Given the description of an element on the screen output the (x, y) to click on. 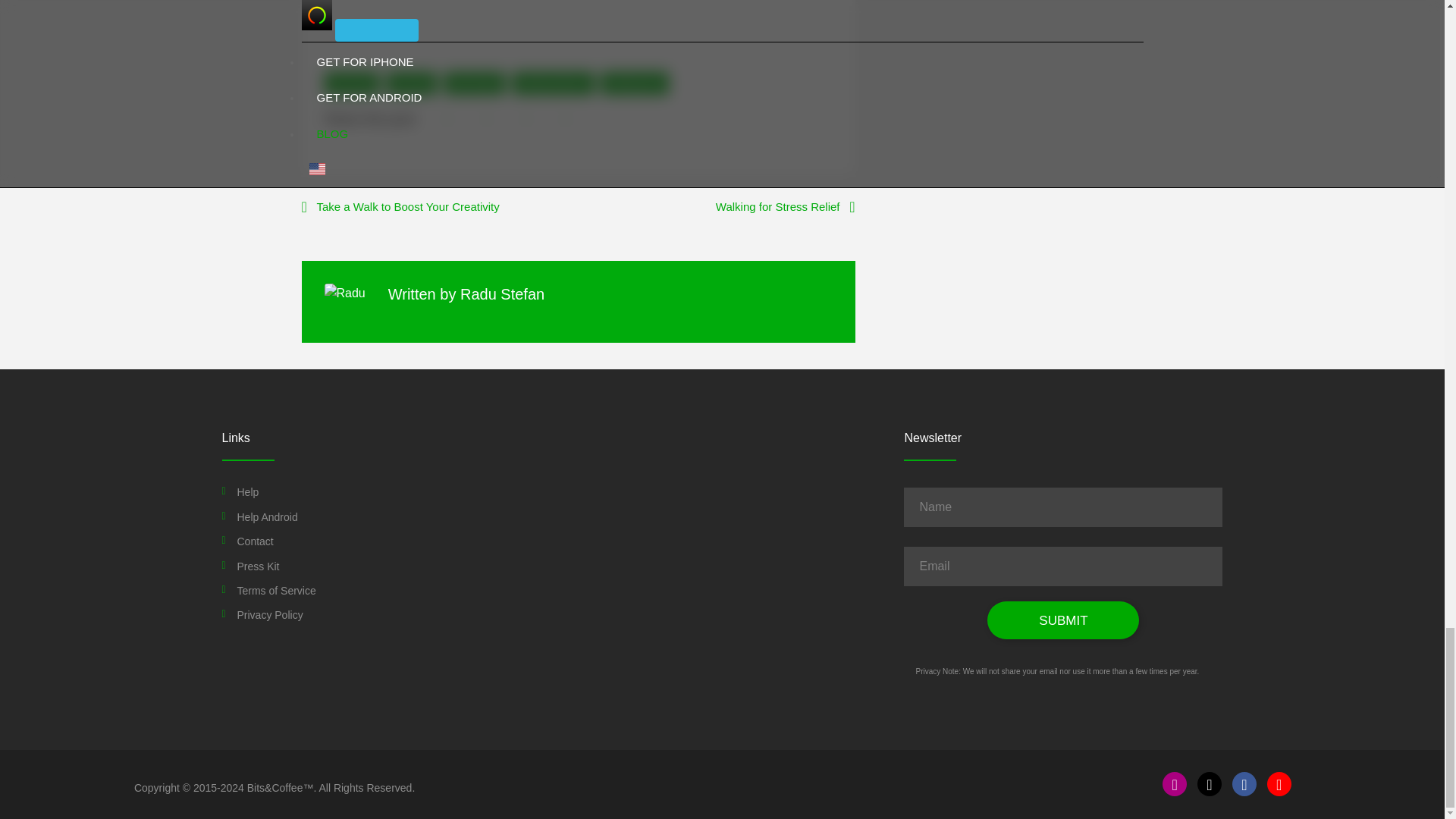
Press Kit (257, 566)
fast walk (412, 83)
Twitter (487, 119)
Posts by Radu Stefan (502, 293)
Facebook (447, 119)
Share on Linkedin (566, 119)
Linkedin (566, 119)
walking distance (553, 83)
Walking for Stress Relief (786, 207)
Help Android (266, 517)
Share on Twitter (487, 119)
Help (247, 491)
Contact (254, 541)
Radu Stefan (502, 293)
Take a Walk to Boost Your Creativity (400, 207)
